Given the description of an element on the screen output the (x, y) to click on. 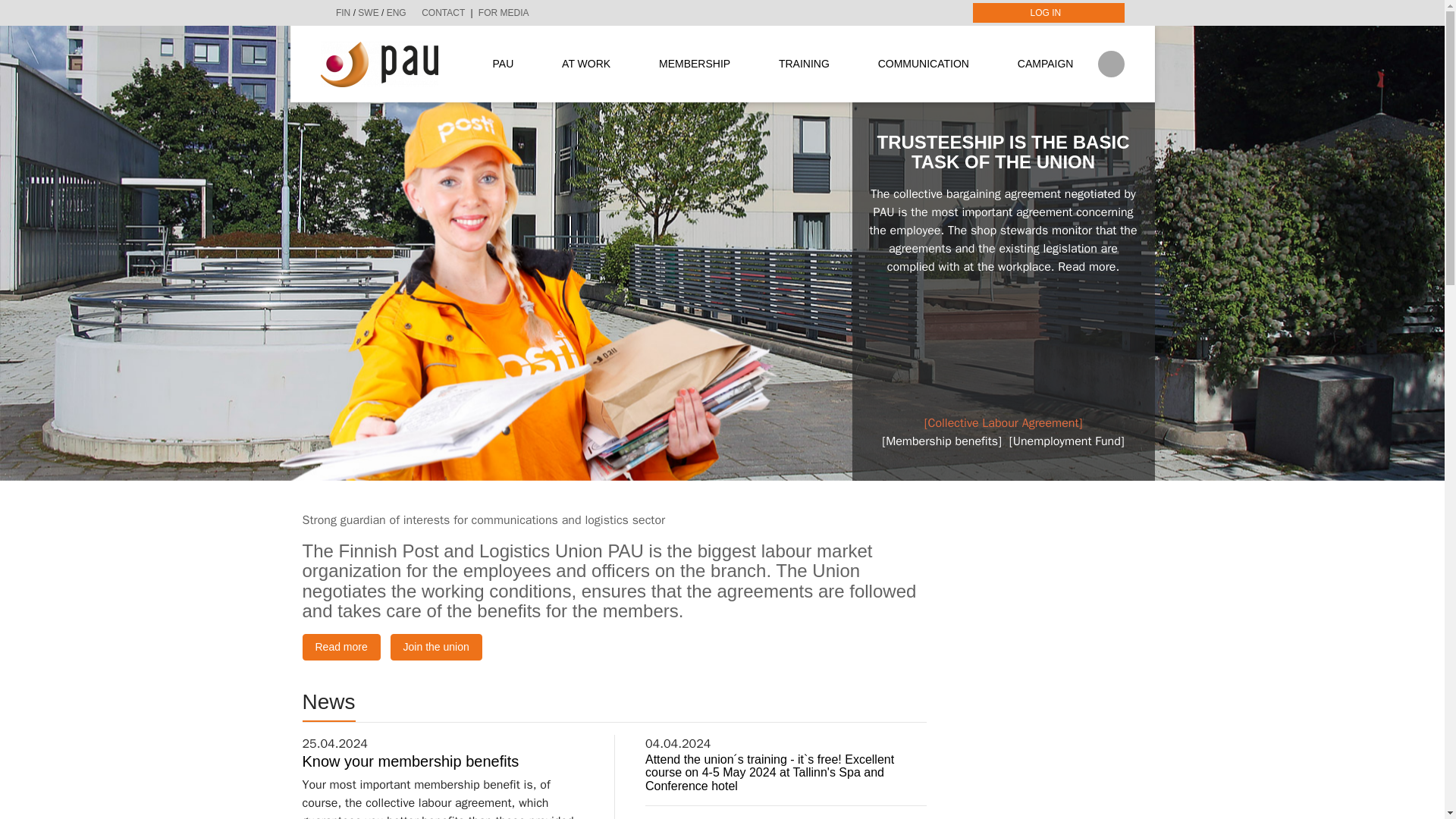
FIN (343, 12)
SWE (368, 12)
CONTACT (443, 12)
LOG IN (1048, 12)
AT WORK (586, 63)
FOR MEDIA (504, 12)
